Given the description of an element on the screen output the (x, y) to click on. 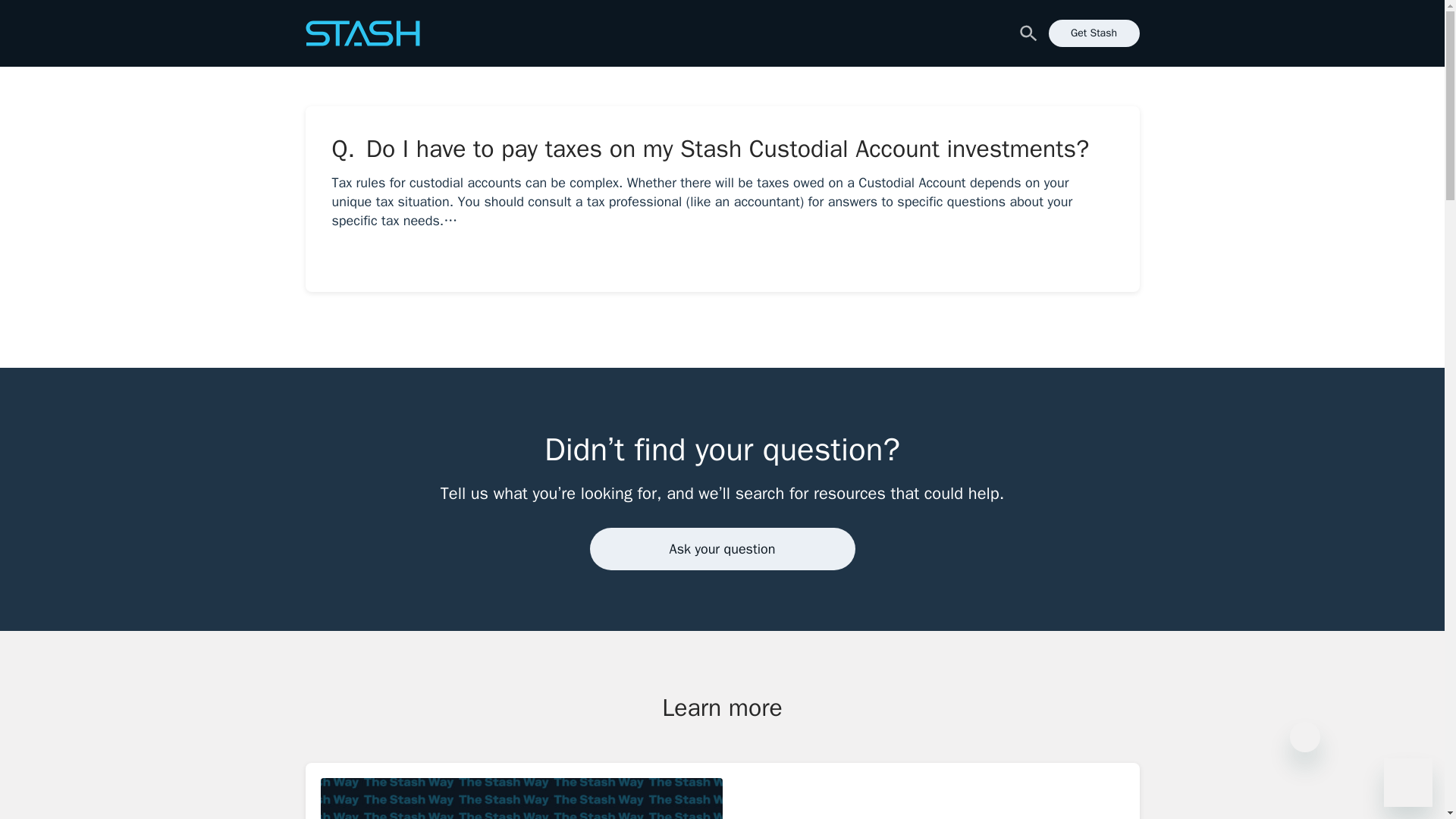
Ask your question (722, 798)
Get Stash (722, 548)
Stash Learn (1093, 32)
Ask Stash (361, 32)
